Given the description of an element on the screen output the (x, y) to click on. 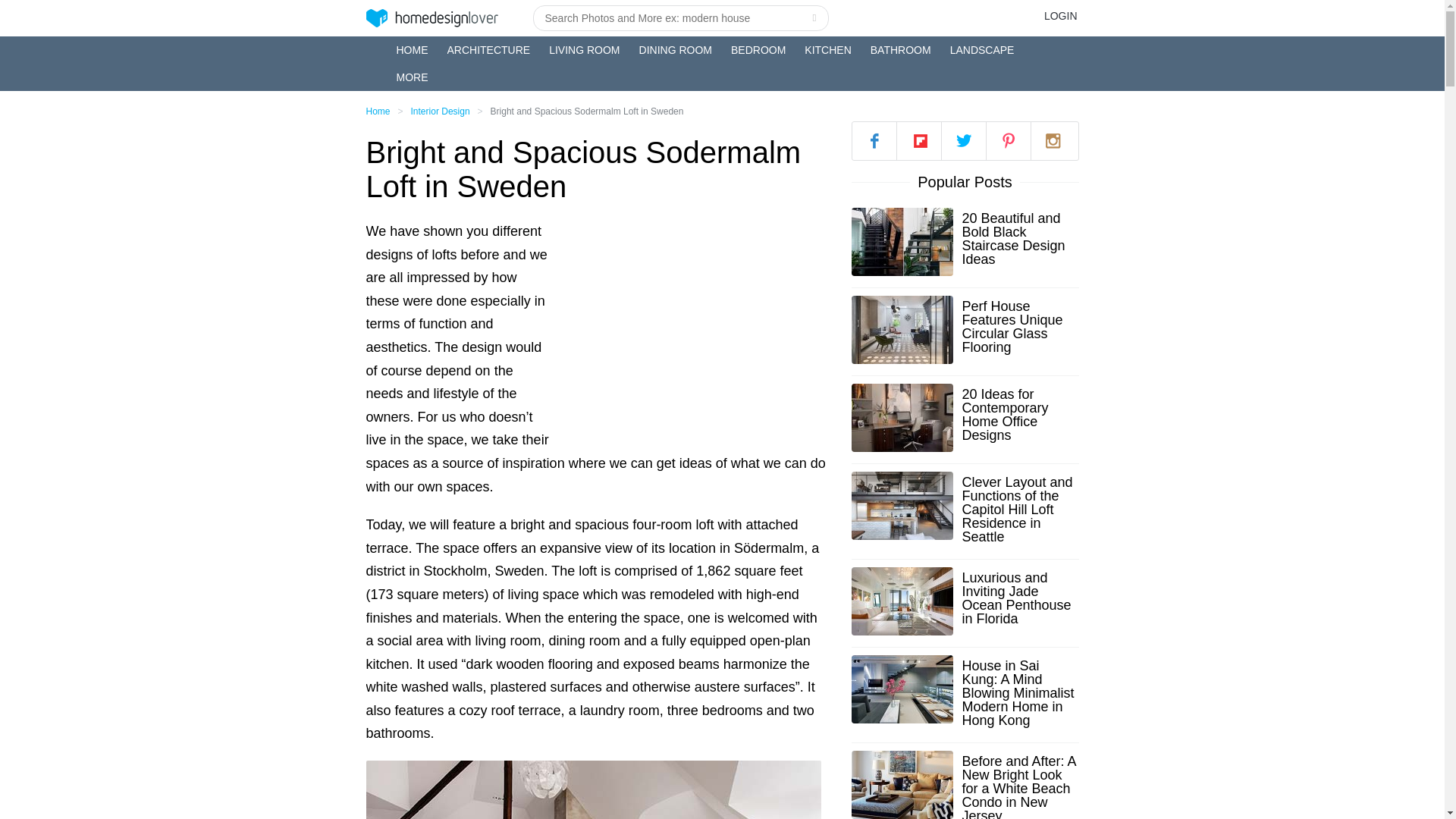
LOGIN (1060, 15)
Perf House Features Unique Circular Glass Flooring (1019, 326)
Home (377, 111)
HOME (412, 49)
ARCHITECTURE (488, 49)
Interior Design (440, 111)
KITCHEN (827, 49)
LIVING ROOM (584, 49)
Advertisement (695, 326)
